Given the description of an element on the screen output the (x, y) to click on. 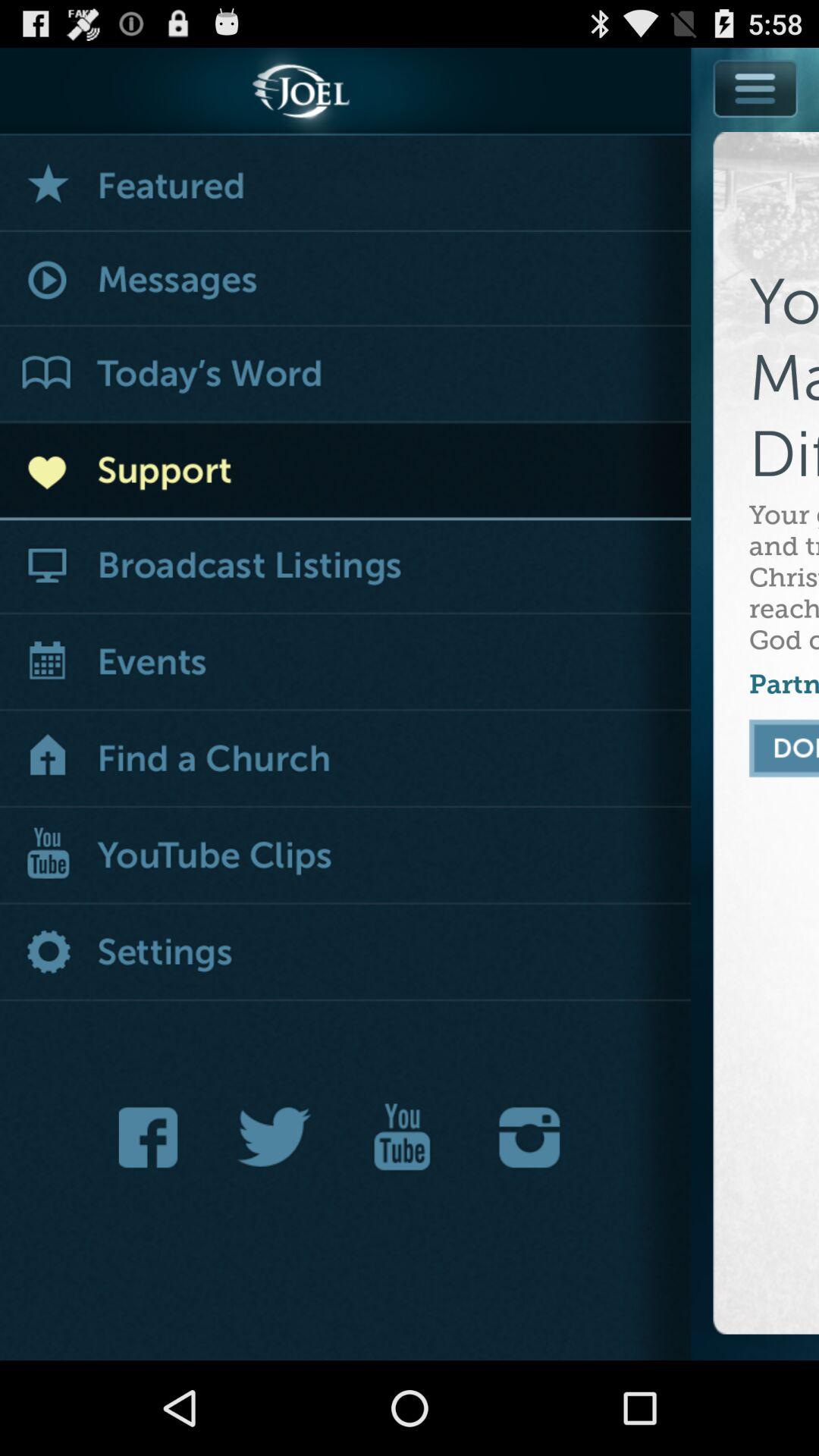
broadcast listings (345, 566)
